Given the description of an element on the screen output the (x, y) to click on. 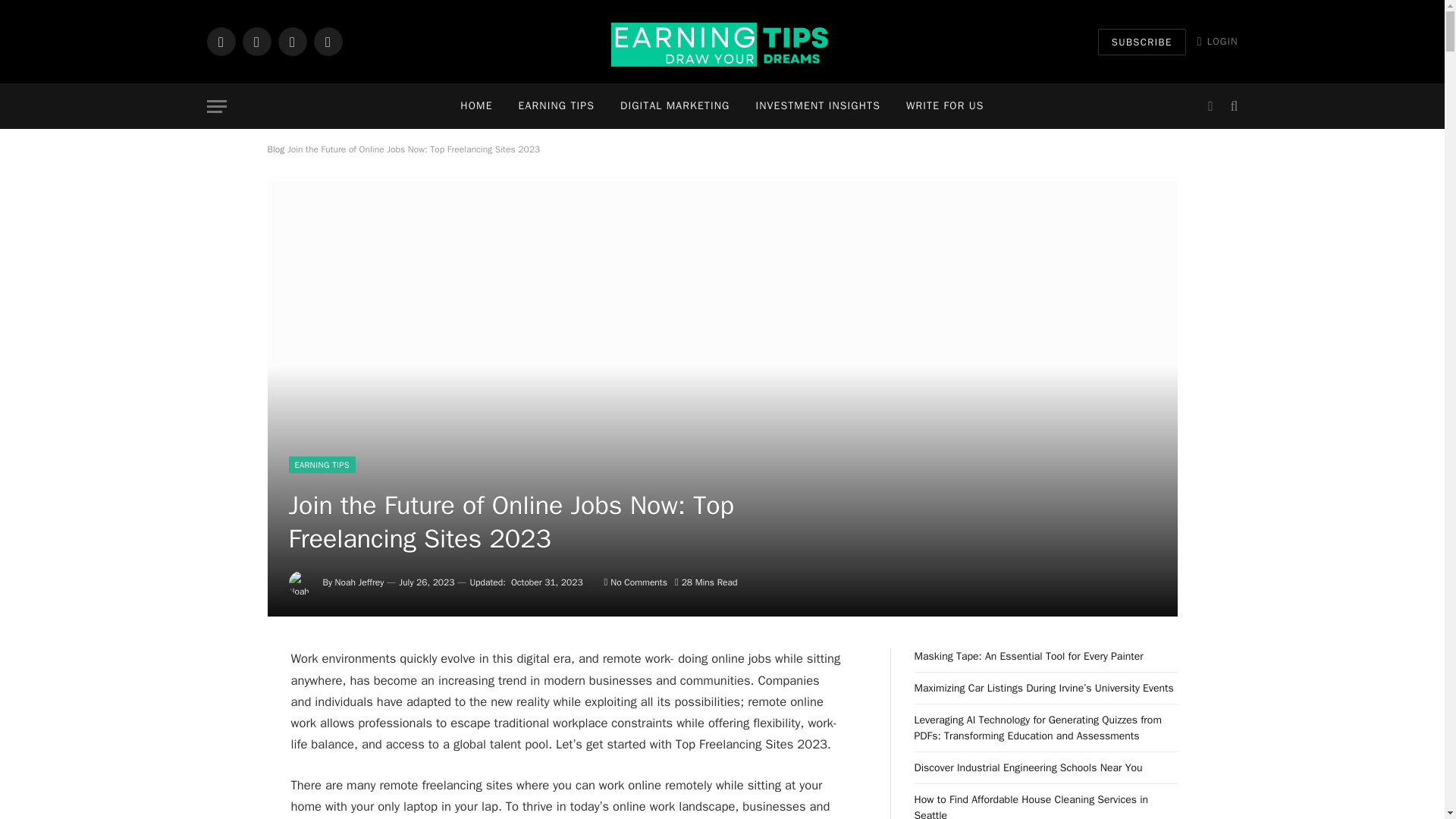
Switch to Dark Design - easier on eyes. (1209, 106)
INVESTMENT INSIGHTS (817, 105)
EARNING TIPS (556, 105)
Posts by Noah Jeffrey (359, 582)
Instagram (291, 41)
Facebook (220, 41)
Earning Tips (721, 41)
WRITE FOR US (945, 105)
Pinterest (328, 41)
HOME (475, 105)
LOGIN (1217, 41)
DIGITAL MARKETING (674, 105)
SUBSCRIBE (1141, 41)
